Given the description of an element on the screen output the (x, y) to click on. 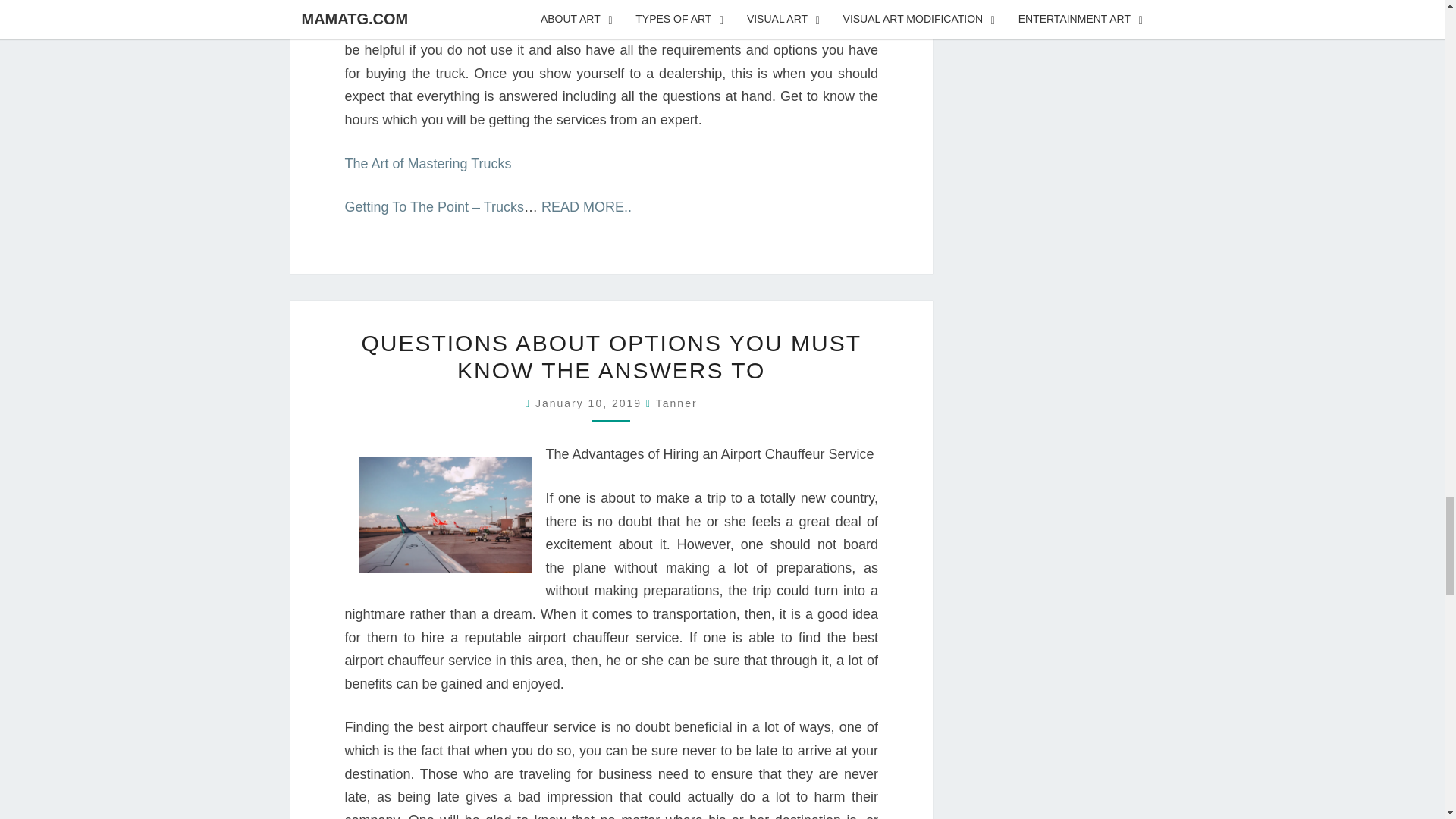
View all posts by Tanner (676, 403)
3:08 am (590, 403)
